Given the description of an element on the screen output the (x, y) to click on. 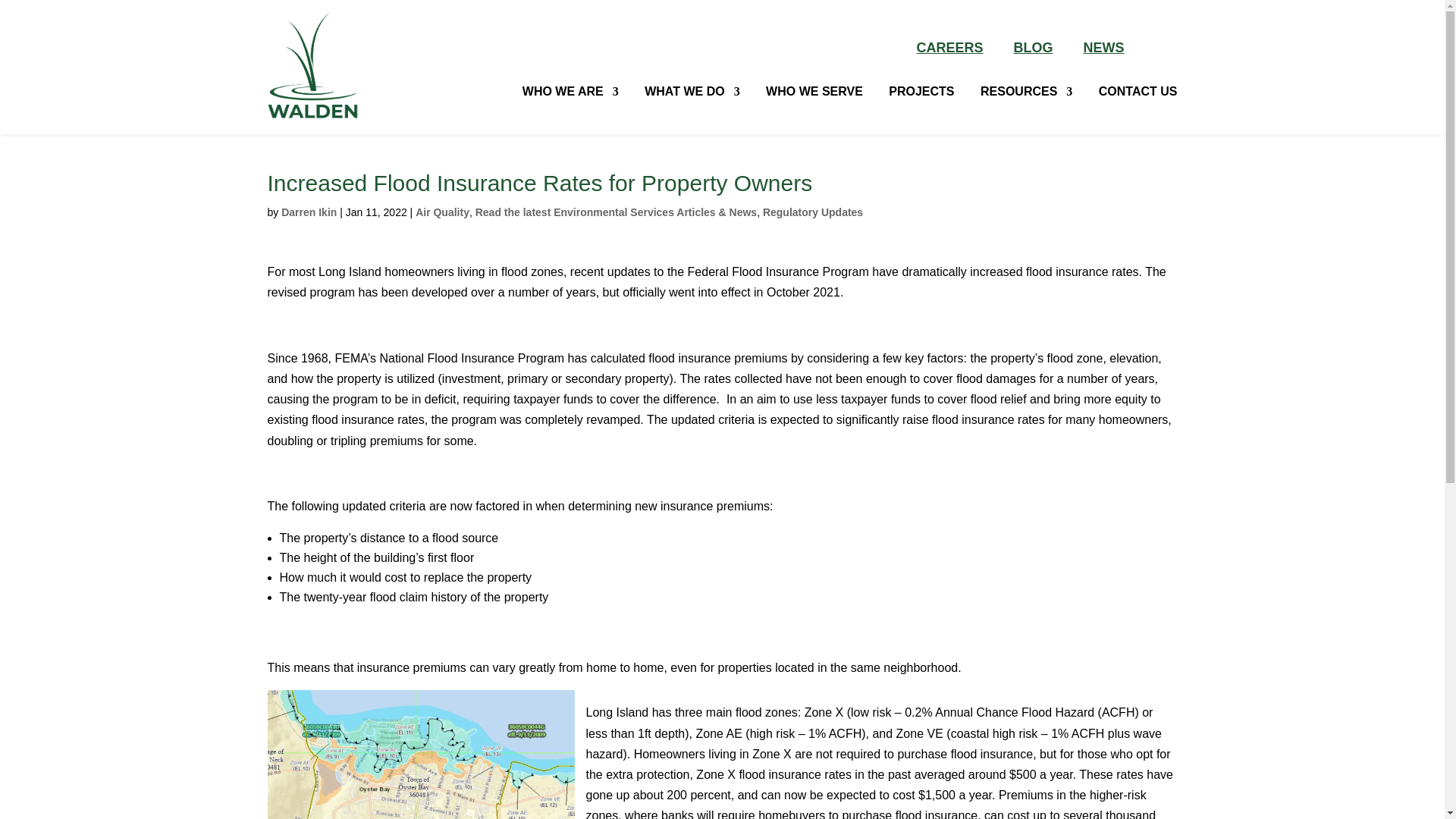
WHAT WE DO (692, 91)
Posts by Darren Ikin (308, 212)
NEWS (1103, 47)
BLOG (1032, 47)
CAREERS (948, 47)
WHO WE ARE (570, 91)
